Given the description of an element on the screen output the (x, y) to click on. 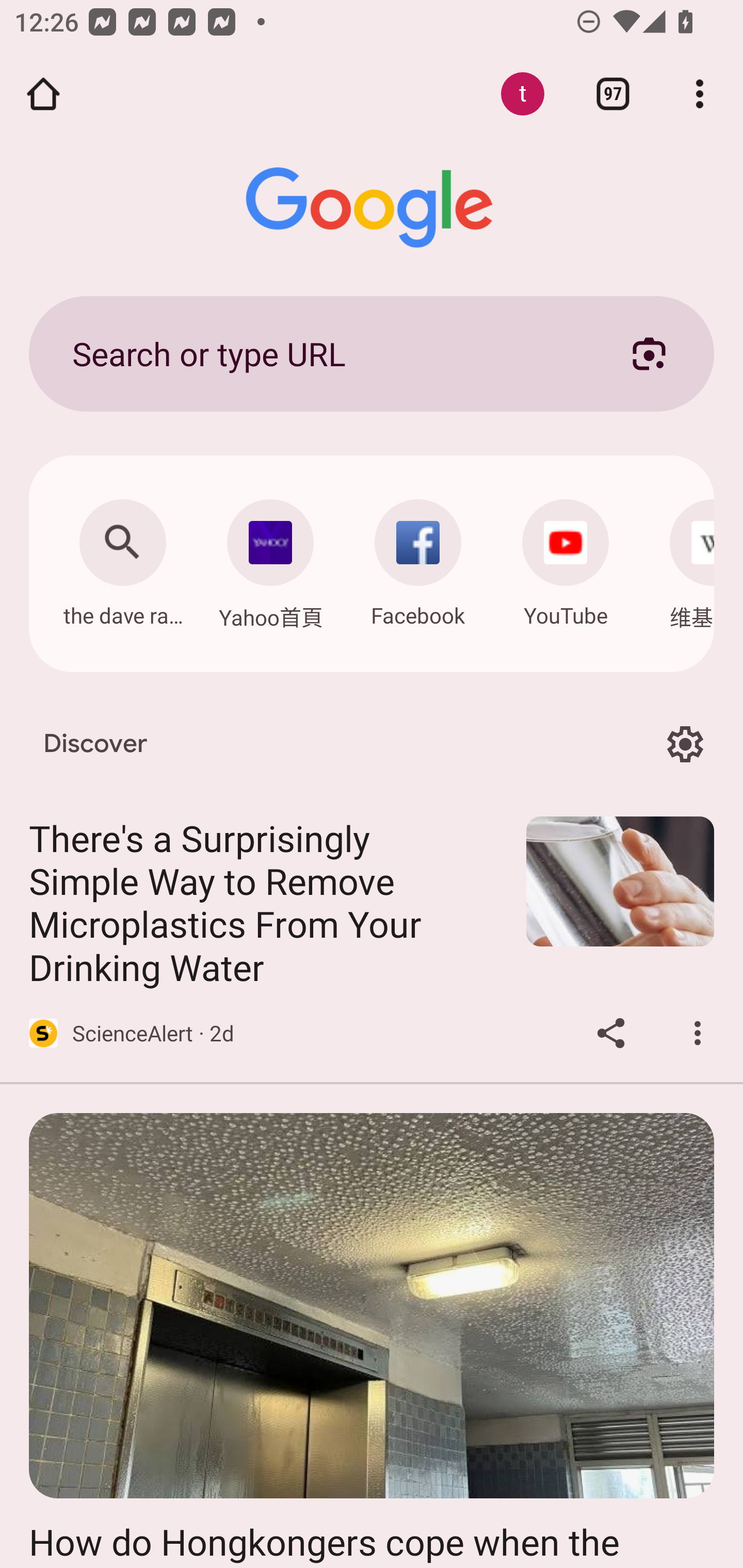
Open the home page (43, 93)
Switch or close tabs (612, 93)
Customize and control Google Chrome (699, 93)
Search or type URL (327, 353)
Search with your camera using Google Lens (648, 353)
Search: the dave ramsey show the dave ramsey show (122, 558)
Navigate: Yahoo首頁: hk.mobi.yahoo.com Yahoo首頁 (270, 558)
Navigate: Facebook: m.facebook.com Facebook (417, 558)
Navigate: YouTube: m.youtube.com YouTube (565, 558)
Options for Discover (684, 743)
